Given the description of an element on the screen output the (x, y) to click on. 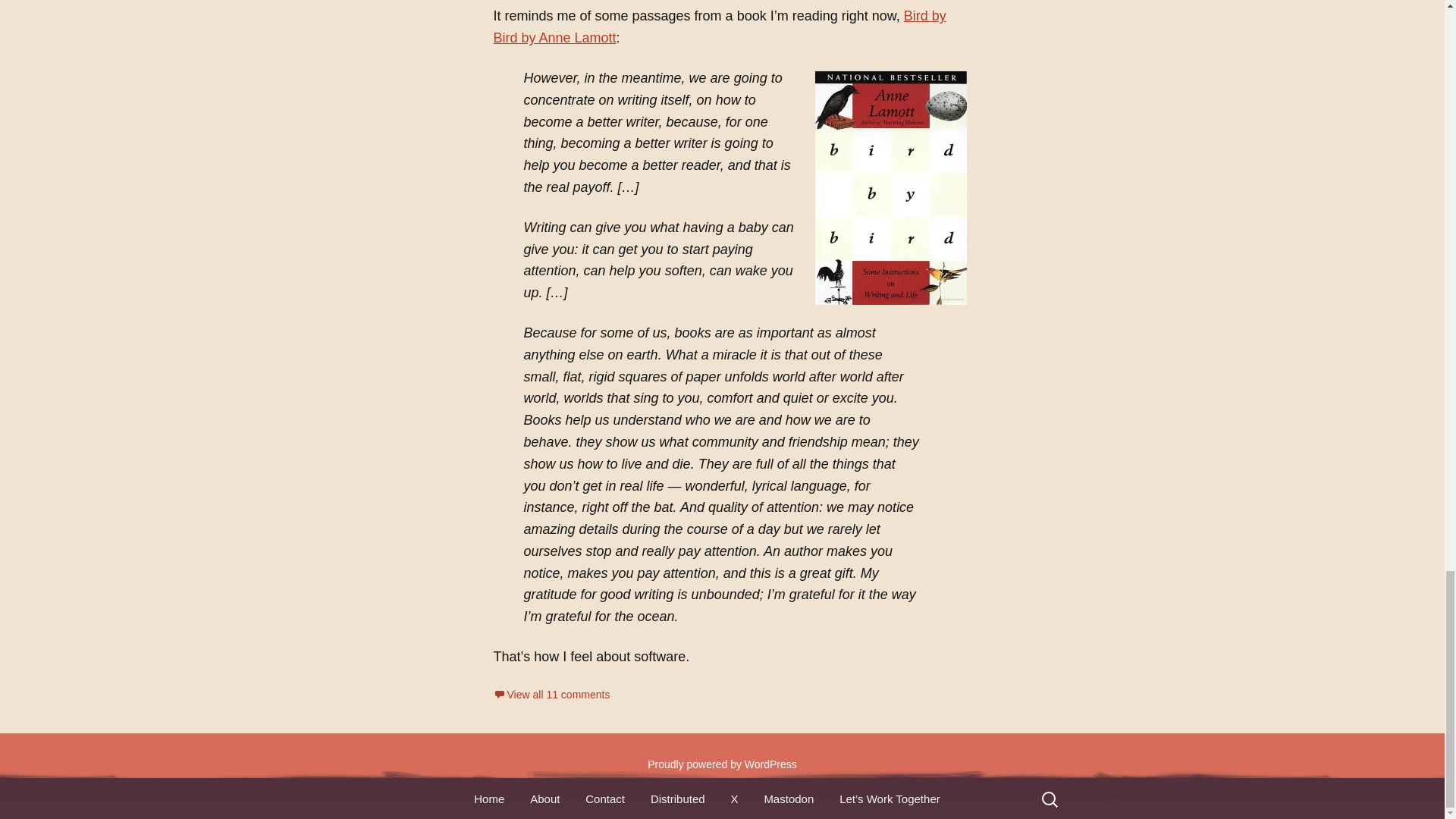
Proudly powered by WordPress (721, 764)
Bird by Bird by Anne Lamott (718, 26)
View all 11 comments (551, 694)
